Given the description of an element on the screen output the (x, y) to click on. 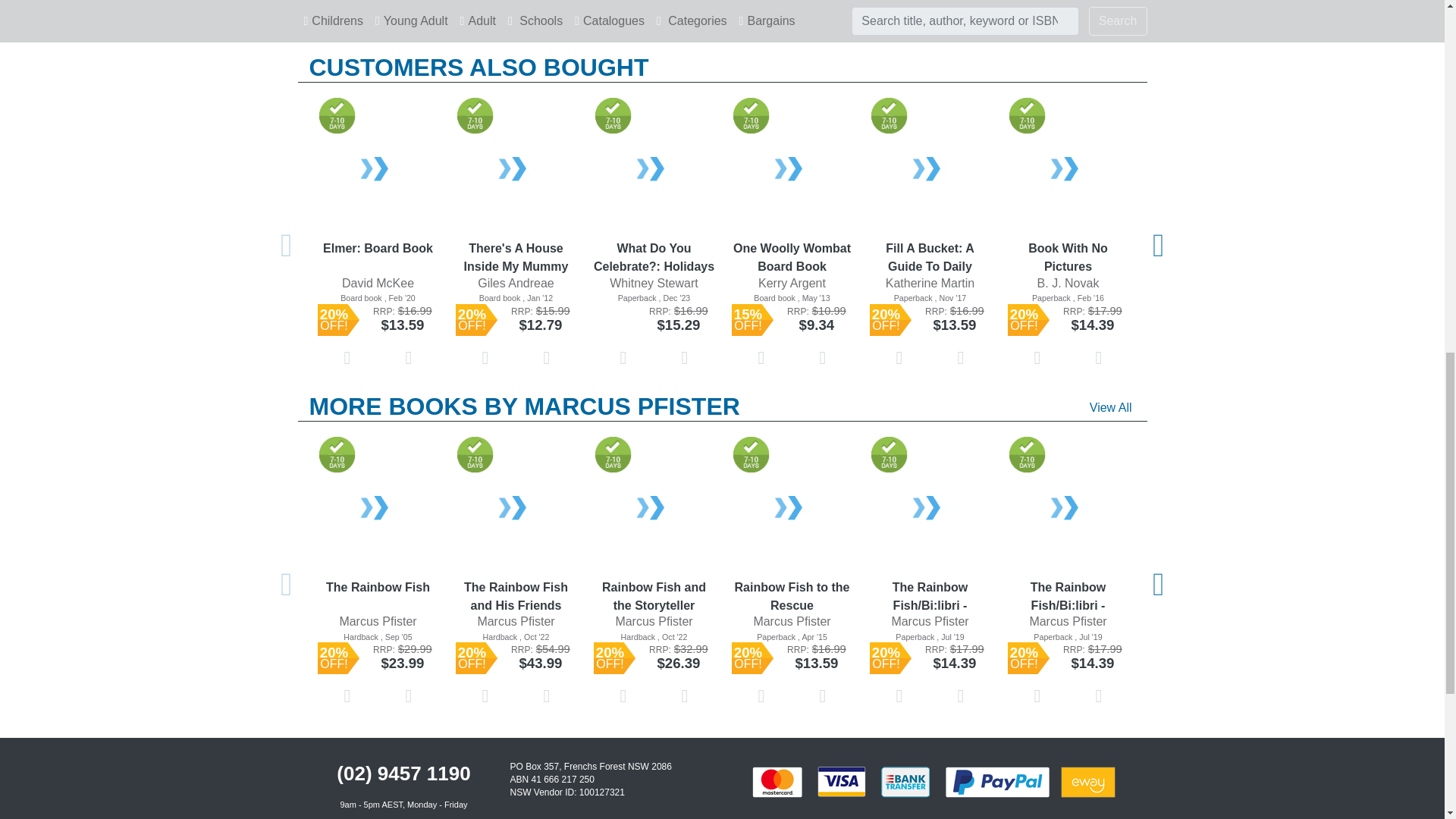
There's A House Inside My Mummy Board Book (516, 256)
Elmer: Board Book (378, 170)
Giles Andreae (516, 282)
Board book (516, 297)
There's A House Inside My Mummy Board Book (516, 170)
Board book (378, 297)
View other books by author Giles Andreae (515, 282)
Elmer: Board Book (378, 256)
David McKee (378, 282)
View other books by author David McKee (377, 282)
